Given the description of an element on the screen output the (x, y) to click on. 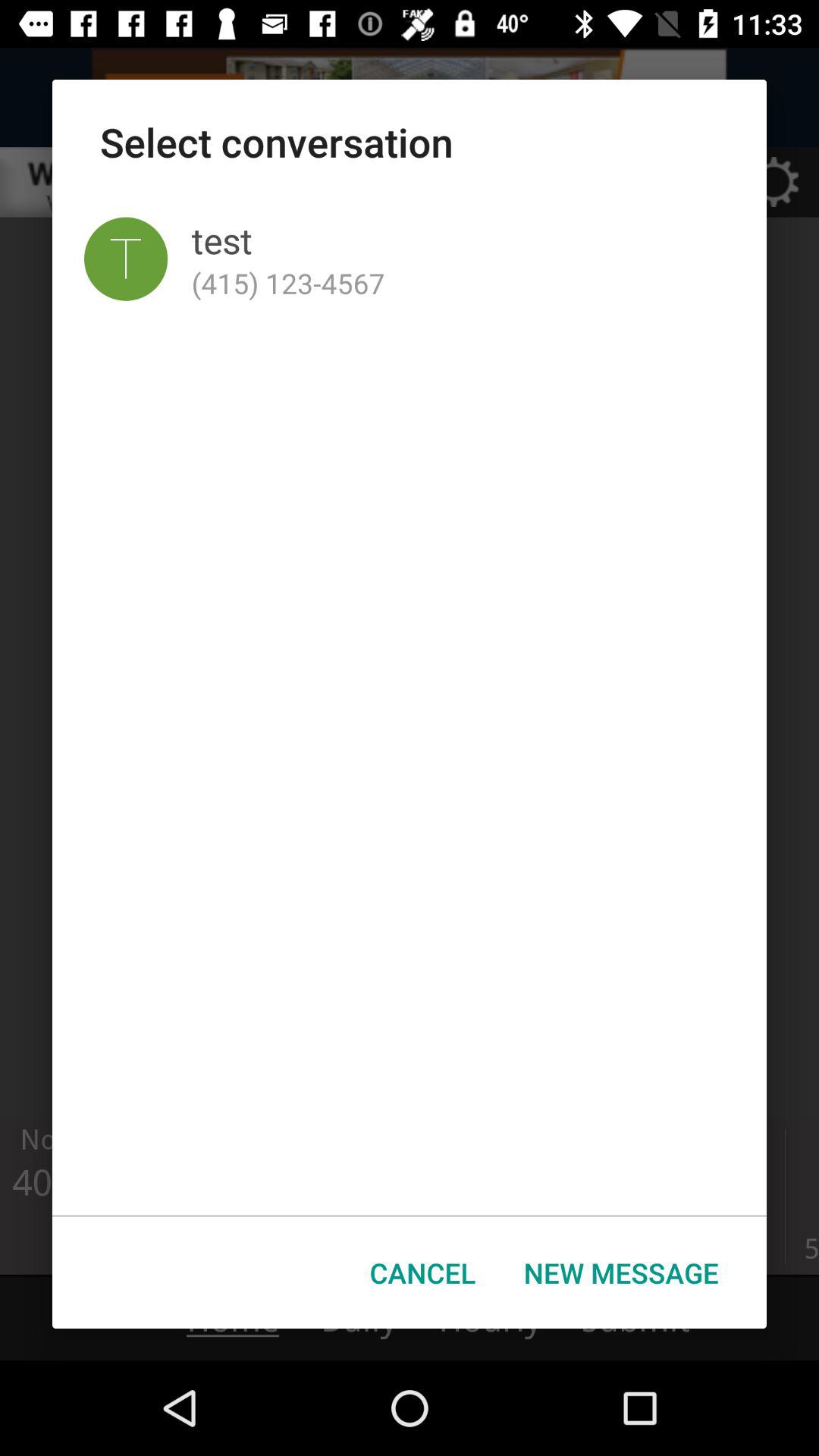
jump until cancel item (422, 1272)
